Given the description of an element on the screen output the (x, y) to click on. 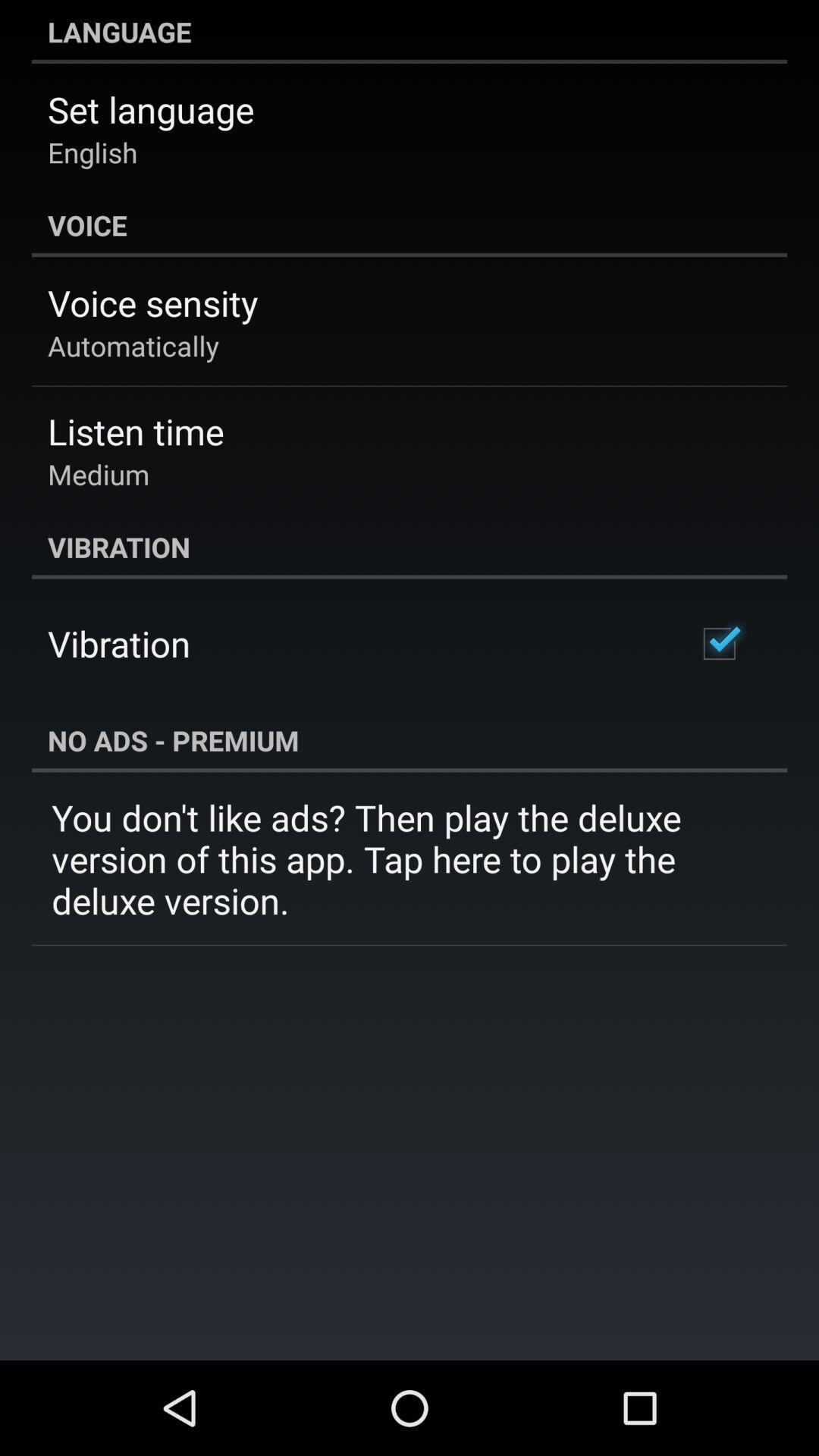
press the item below the language icon (150, 109)
